Given the description of an element on the screen output the (x, y) to click on. 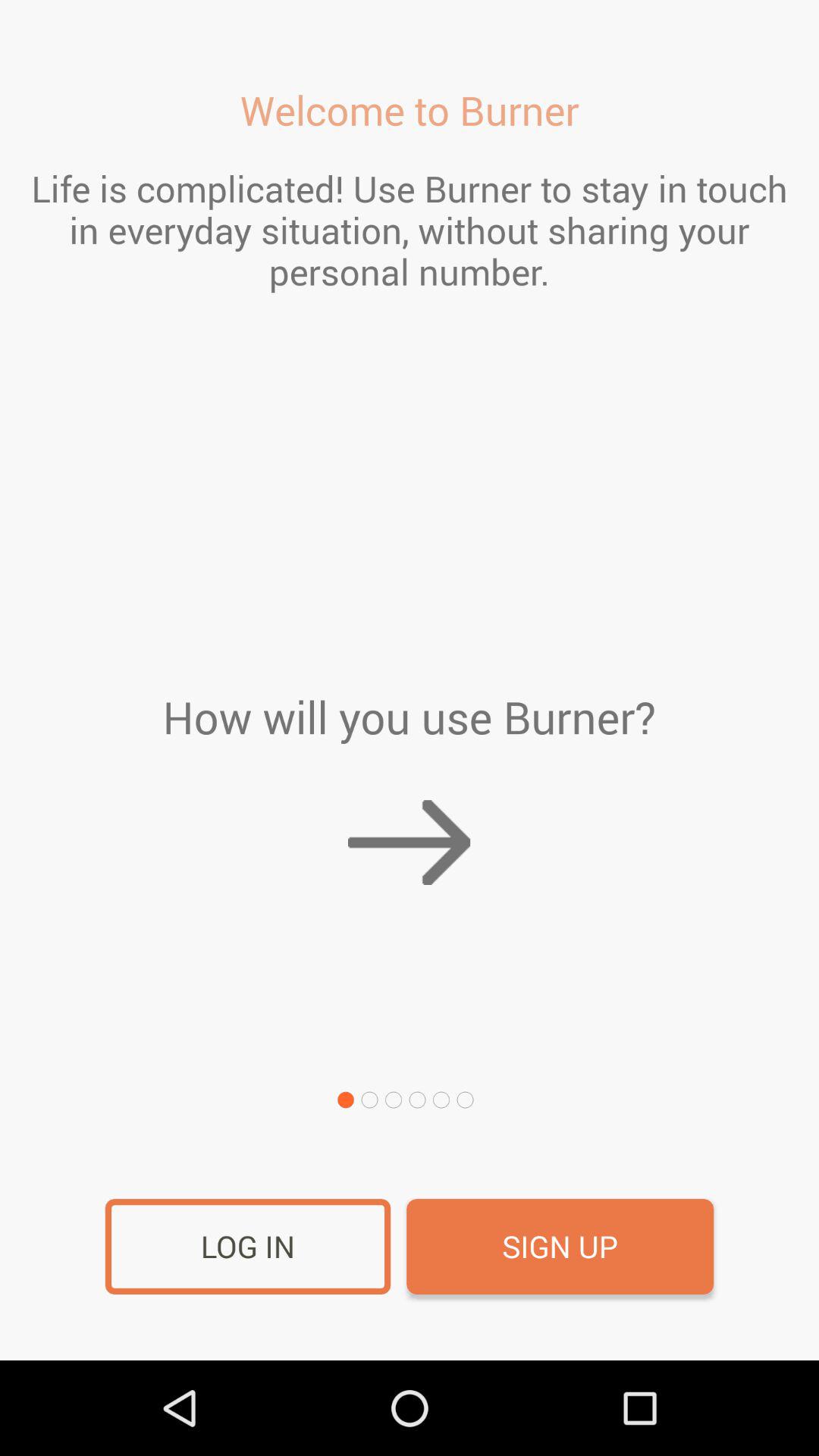
turn on item next to sign up item (247, 1246)
